Given the description of an element on the screen output the (x, y) to click on. 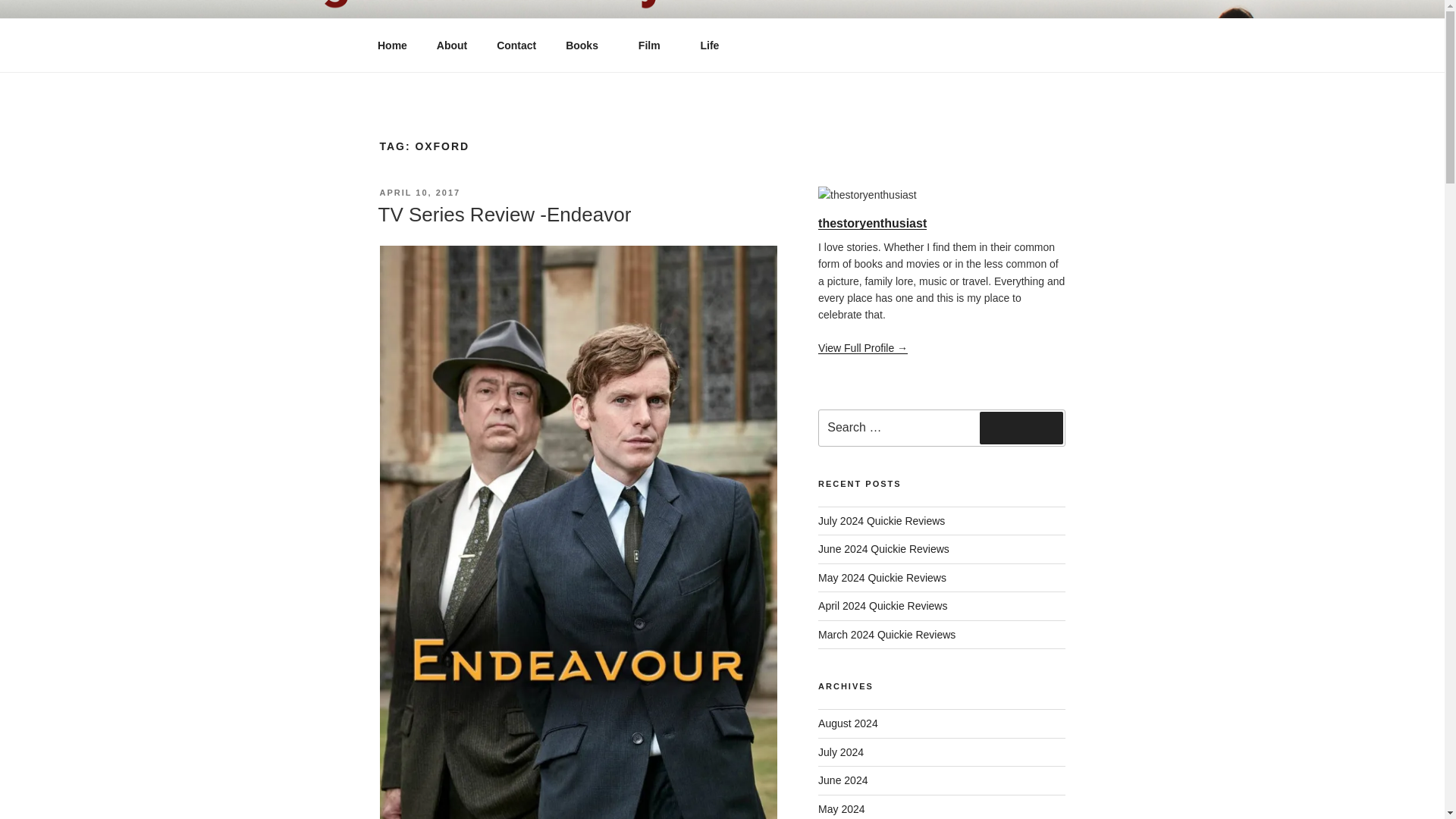
April 2024 Quickie Reviews (882, 605)
Film (654, 45)
August 2024 (847, 723)
THE STORY ENTHUSIAST (568, 52)
March 2024 Quickie Reviews (886, 634)
May 2024 (841, 808)
June 2024 (842, 779)
thestoryenthusiast (872, 223)
About (451, 45)
Search (1020, 427)
